Given the description of an element on the screen output the (x, y) to click on. 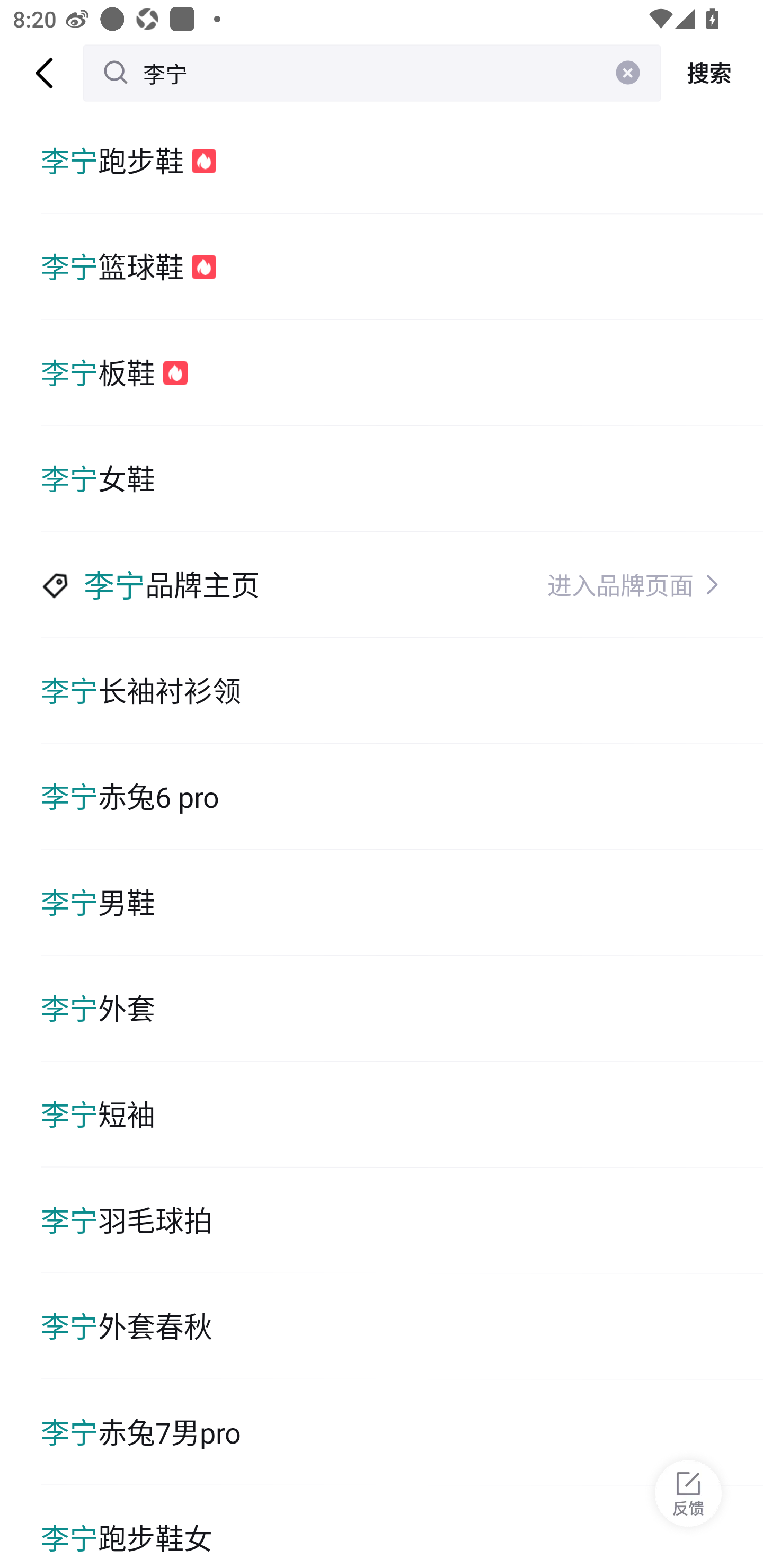
搜索 (712, 72)
李宁 (371, 72)
李宁跑步鞋 (401, 160)
李宁篮球鞋 (401, 266)
李宁板鞋 (401, 372)
李宁女鞋 (401, 478)
李宁 品牌主页 进入品牌页面  (401, 584)
李宁长袖衬衫领 (401, 690)
李宁赤兔6 pro (401, 796)
李宁男鞋 (401, 901)
李宁外套 (401, 1007)
李宁短袖 (401, 1114)
李宁羽毛球拍 (401, 1220)
李宁外套春秋 (401, 1326)
李宁赤兔7男pro (401, 1431)
李宁跑步鞋女 (401, 1526)
